Given the description of an element on the screen output the (x, y) to click on. 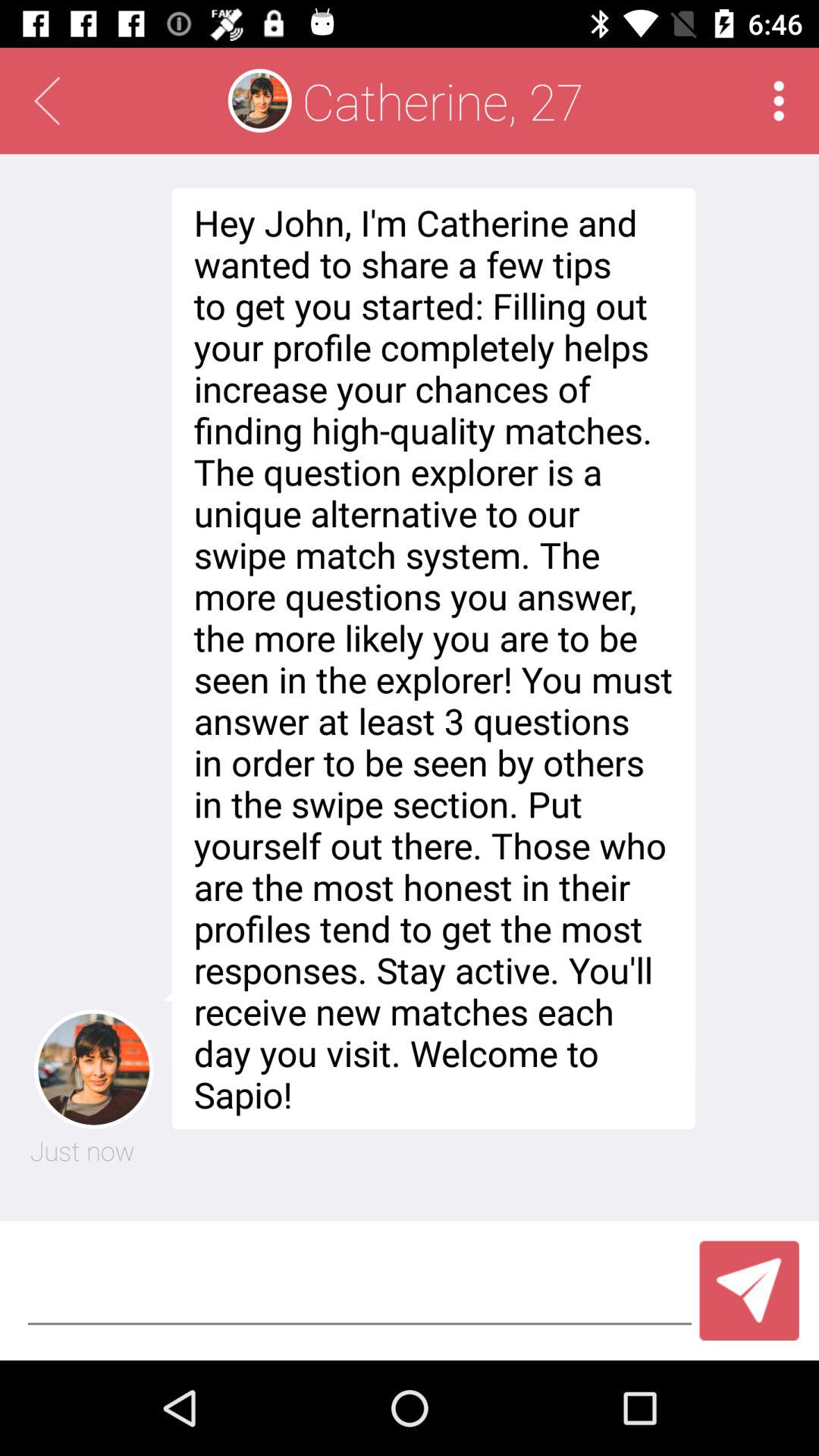
click the hey john i (429, 658)
